Given the description of an element on the screen output the (x, y) to click on. 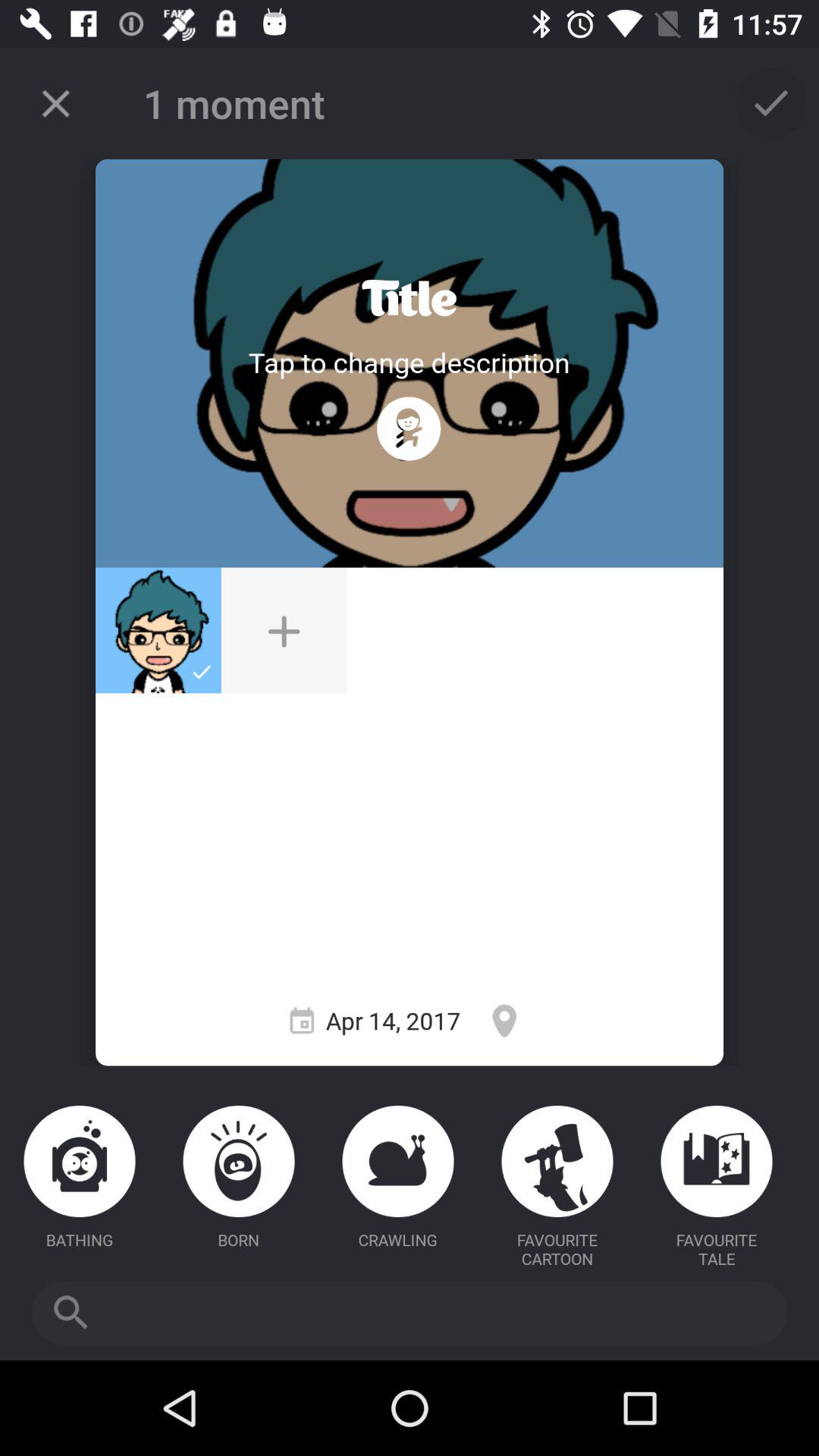
cancel current action (55, 103)
